Given the description of an element on the screen output the (x, y) to click on. 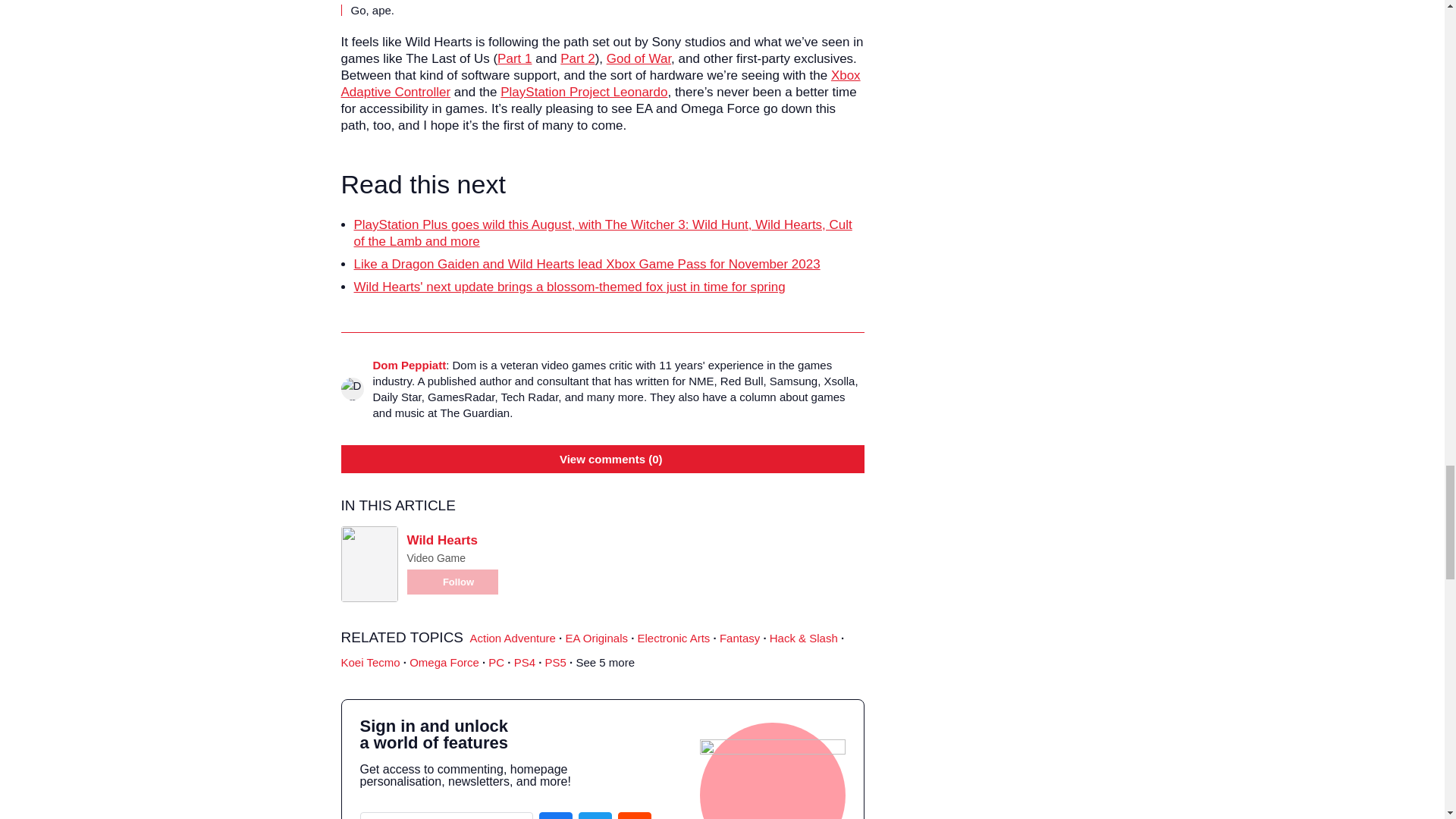
God of War (639, 58)
Part 2 (577, 58)
Part 1 (514, 58)
Follow Wild Hearts (451, 581)
Xbox Adaptive Controller (600, 83)
